Given the description of an element on the screen output the (x, y) to click on. 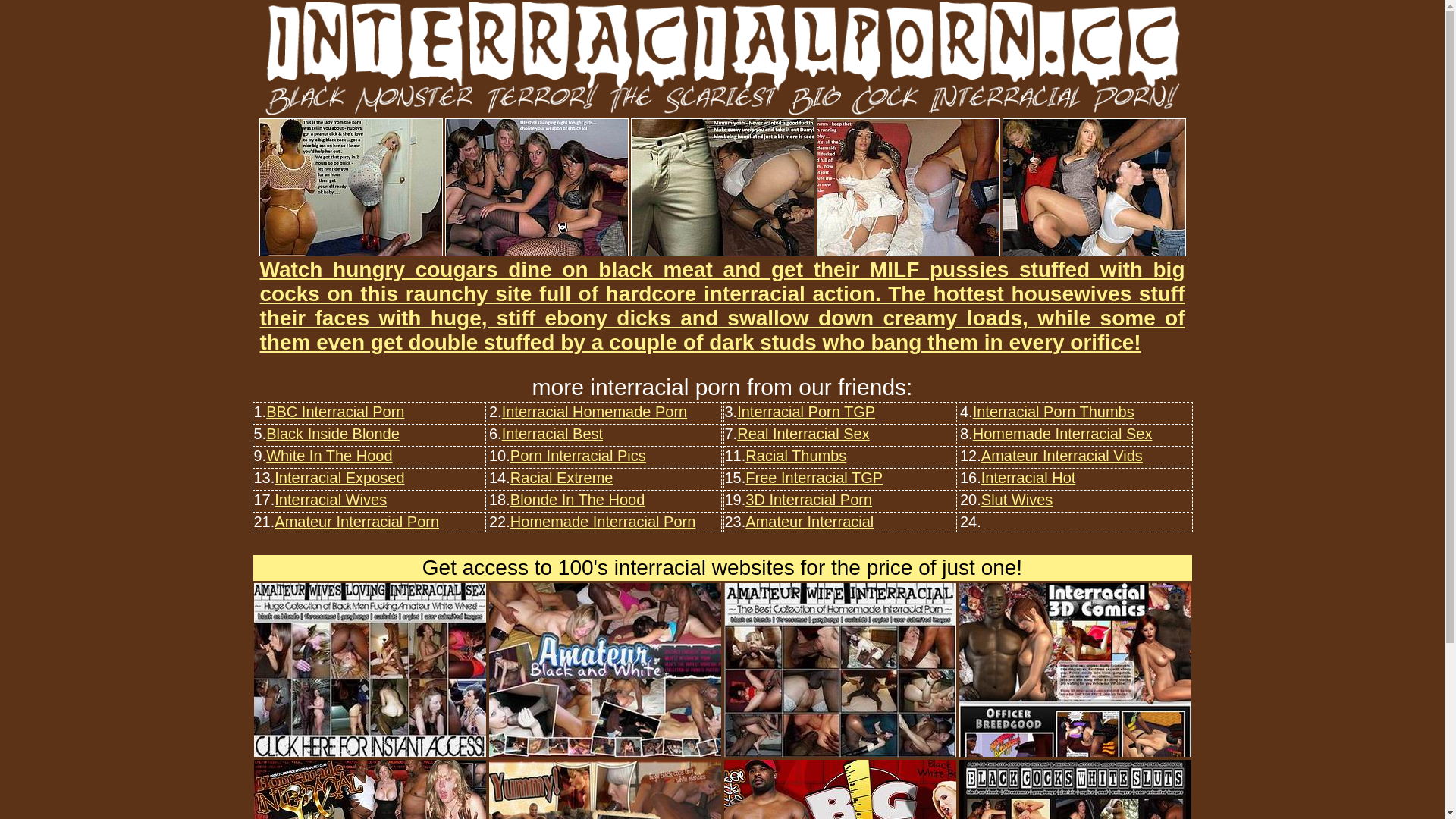
Free Interracial TGP Element type: text (813, 477)
Amateur Interracial Vids Element type: text (1061, 455)
Blonde In The Hood Element type: text (577, 499)
Interracial Porn TGP Element type: text (806, 411)
Interracial Exposed Element type: text (339, 477)
Racial Extreme Element type: text (561, 477)
Porn Interracial Pics Element type: text (578, 455)
Interracial Homemade Porn Element type: text (594, 411)
Real Interracial Sex Element type: text (803, 433)
Homemade Interracial Sex Element type: text (1062, 433)
White In The Hood Element type: text (329, 455)
Interracial Wives Element type: text (330, 499)
Slut Wives Element type: text (1016, 499)
Interracial Hot Element type: text (1028, 477)
Amateur Interracial Porn Element type: text (356, 521)
Racial Thumbs Element type: text (795, 455)
Amateur Interracial Element type: text (809, 521)
3D Interracial Porn Element type: text (808, 499)
Interracial Porn Thumbs Element type: text (1053, 411)
Homemade Interracial Porn Element type: text (603, 521)
BBC Interracial Porn Element type: text (335, 411)
Interracial Best Element type: text (552, 433)
Black Inside Blonde Element type: text (332, 433)
